Given the description of an element on the screen output the (x, y) to click on. 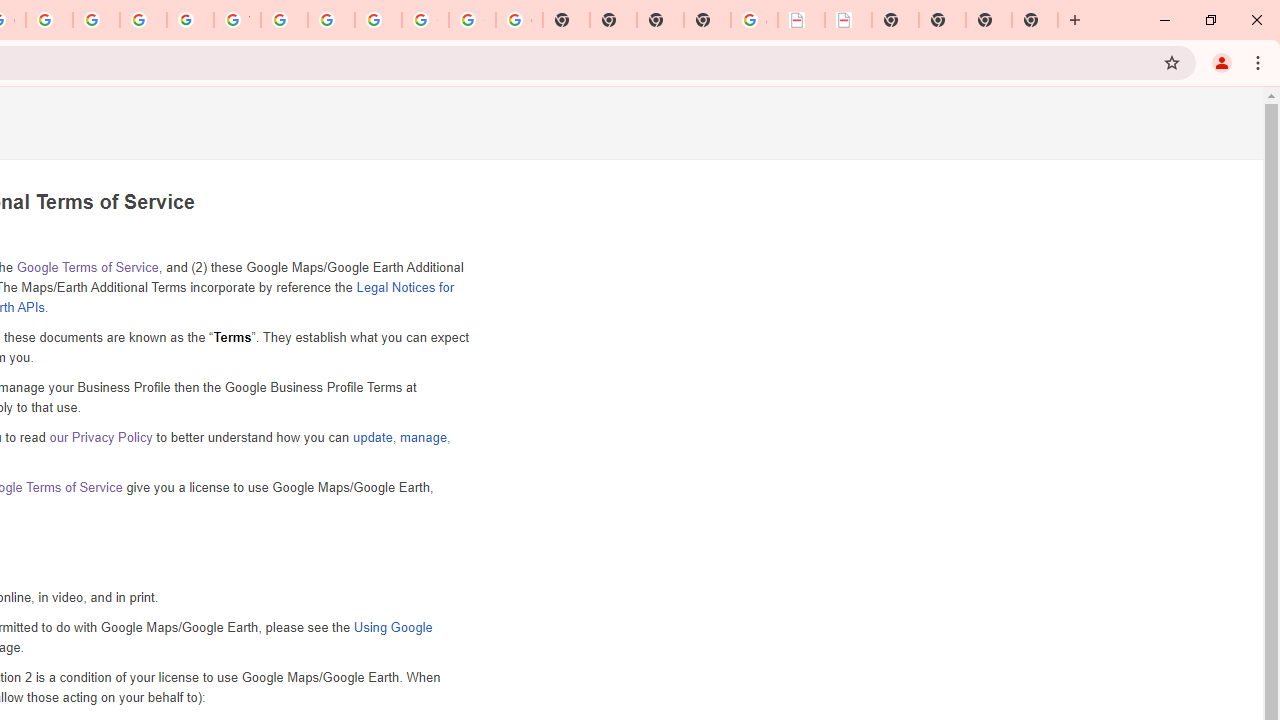
New Tab (1035, 20)
Privacy Help Center - Policies Help (48, 20)
YouTube (237, 20)
Privacy Help Center - Policies Help (96, 20)
New Tab (706, 20)
LAAD Defence & Security 2025 | BAE Systems (801, 20)
BAE Systems Brasil | BAE Systems (848, 20)
